Given the description of an element on the screen output the (x, y) to click on. 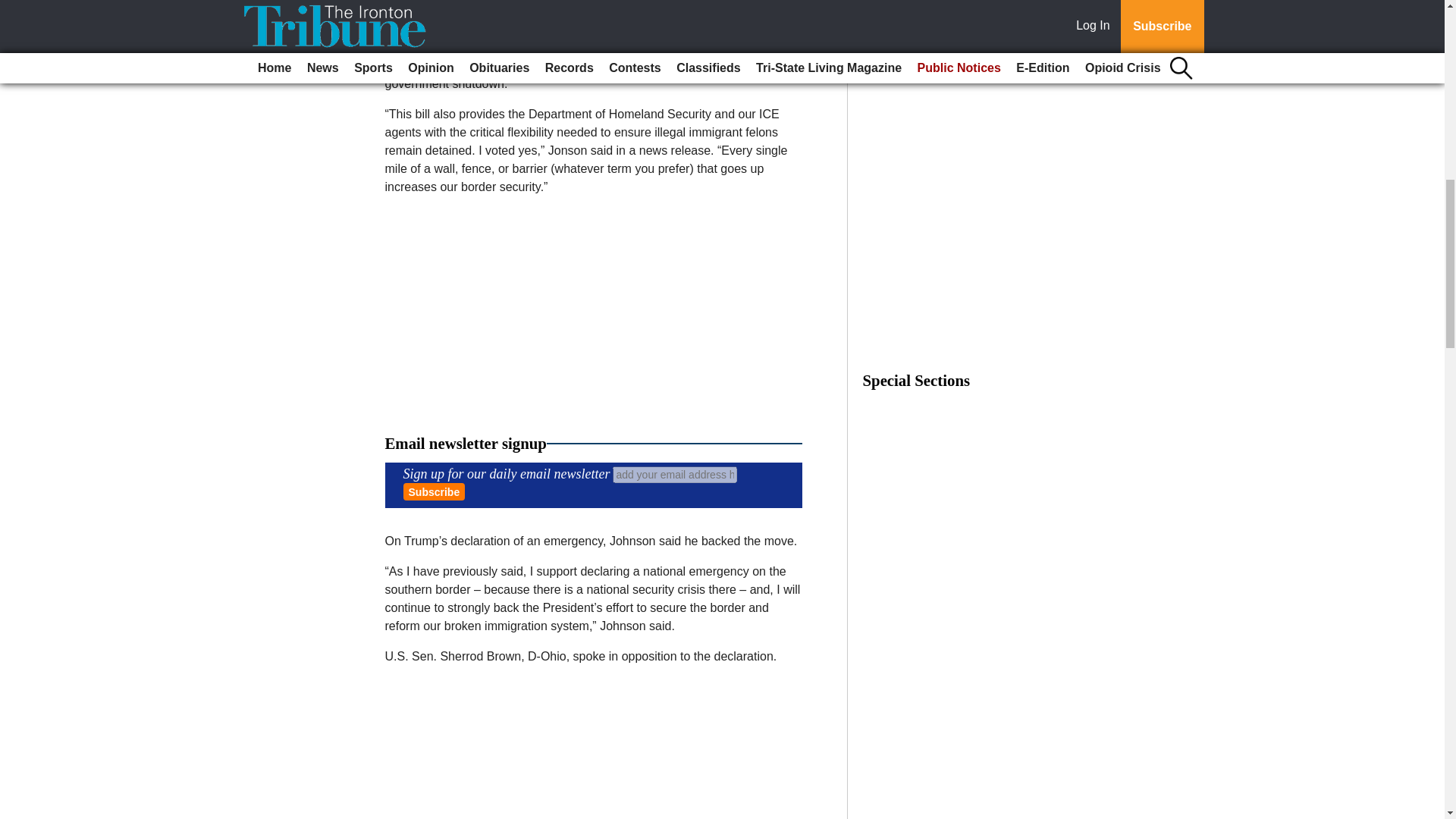
Subscribe (434, 491)
Subscribe (434, 491)
